Given the description of an element on the screen output the (x, y) to click on. 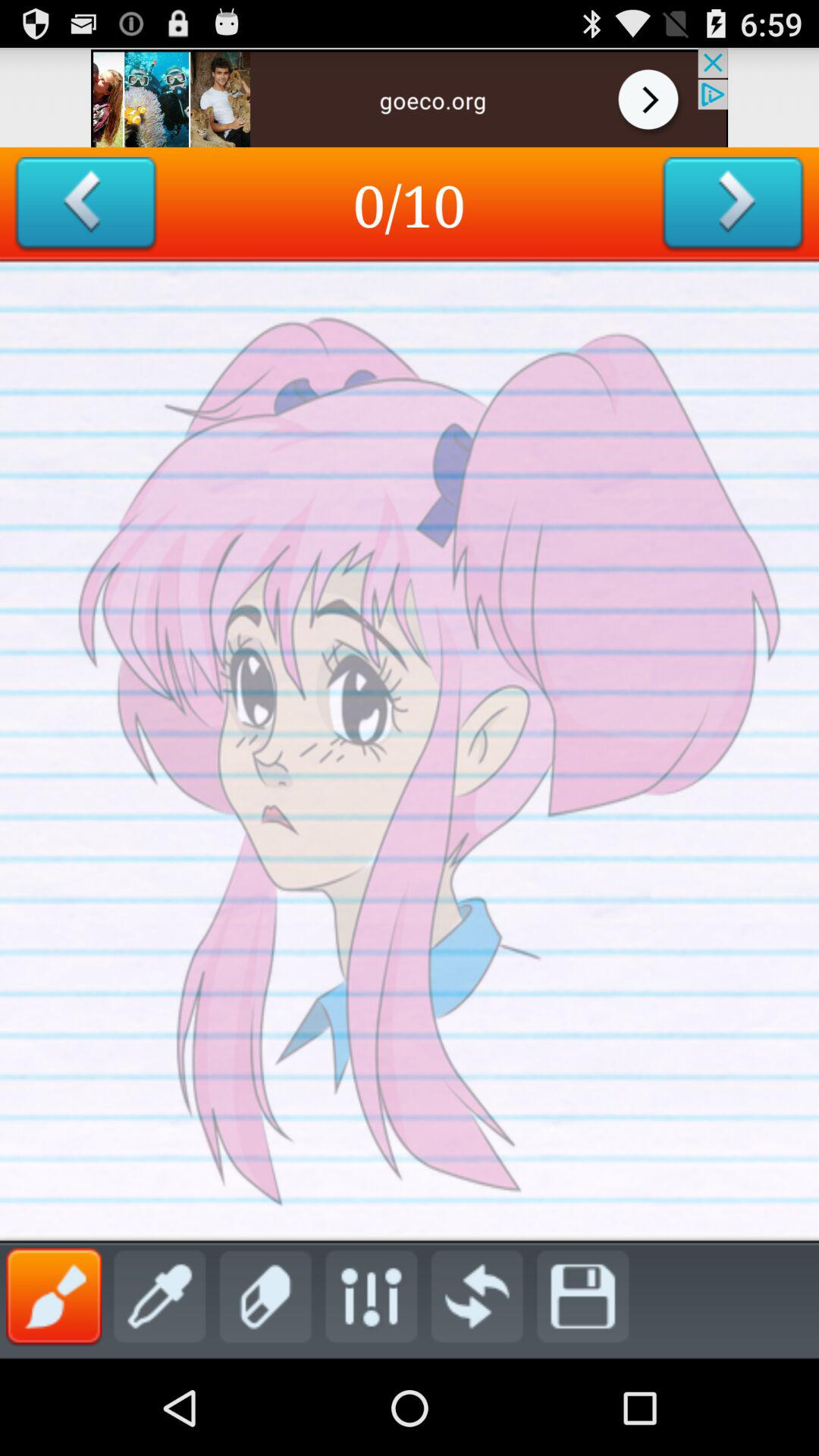
advertisement (409, 97)
